Given the description of an element on the screen output the (x, y) to click on. 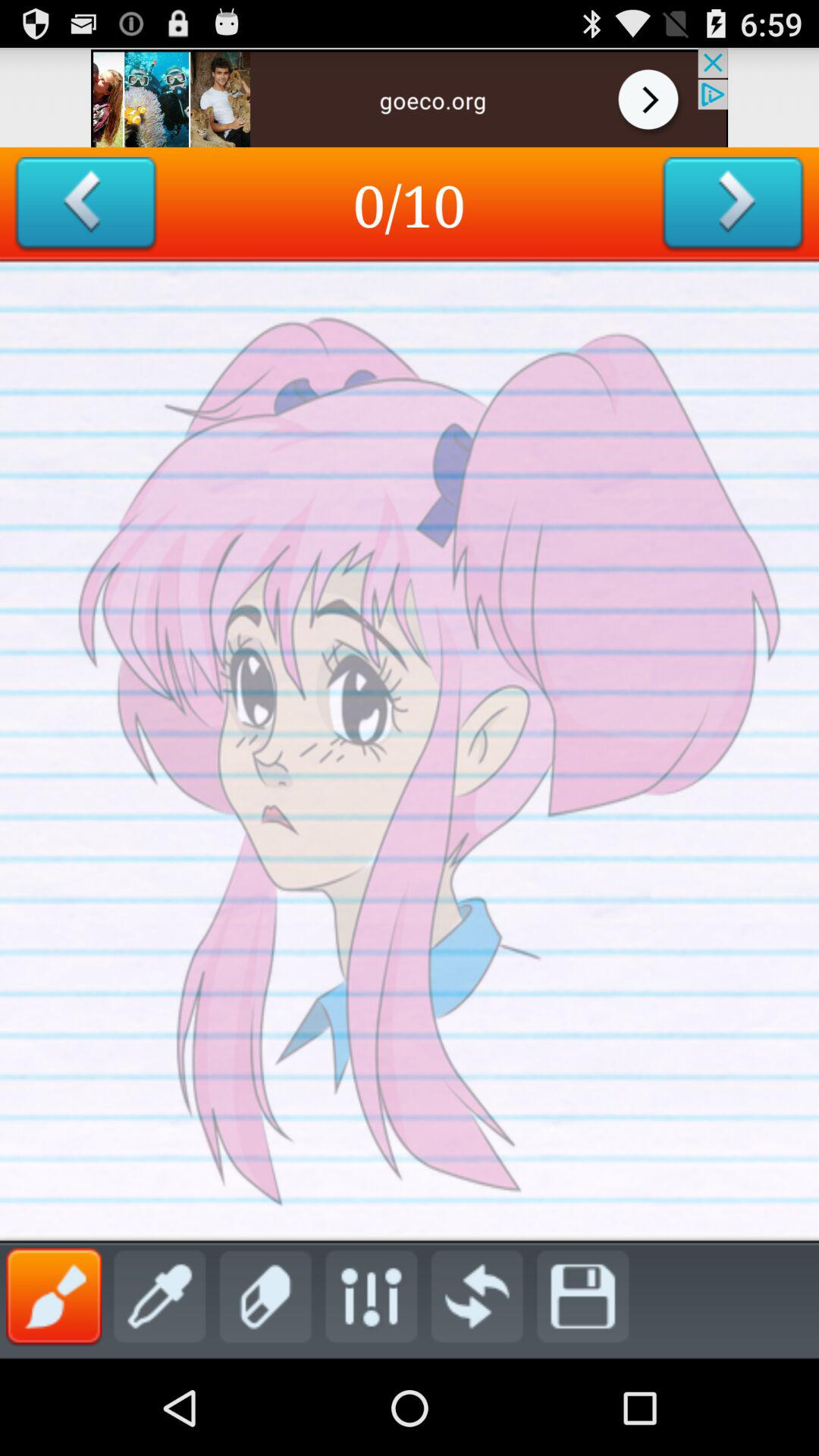
advertisement (409, 97)
